Given the description of an element on the screen output the (x, y) to click on. 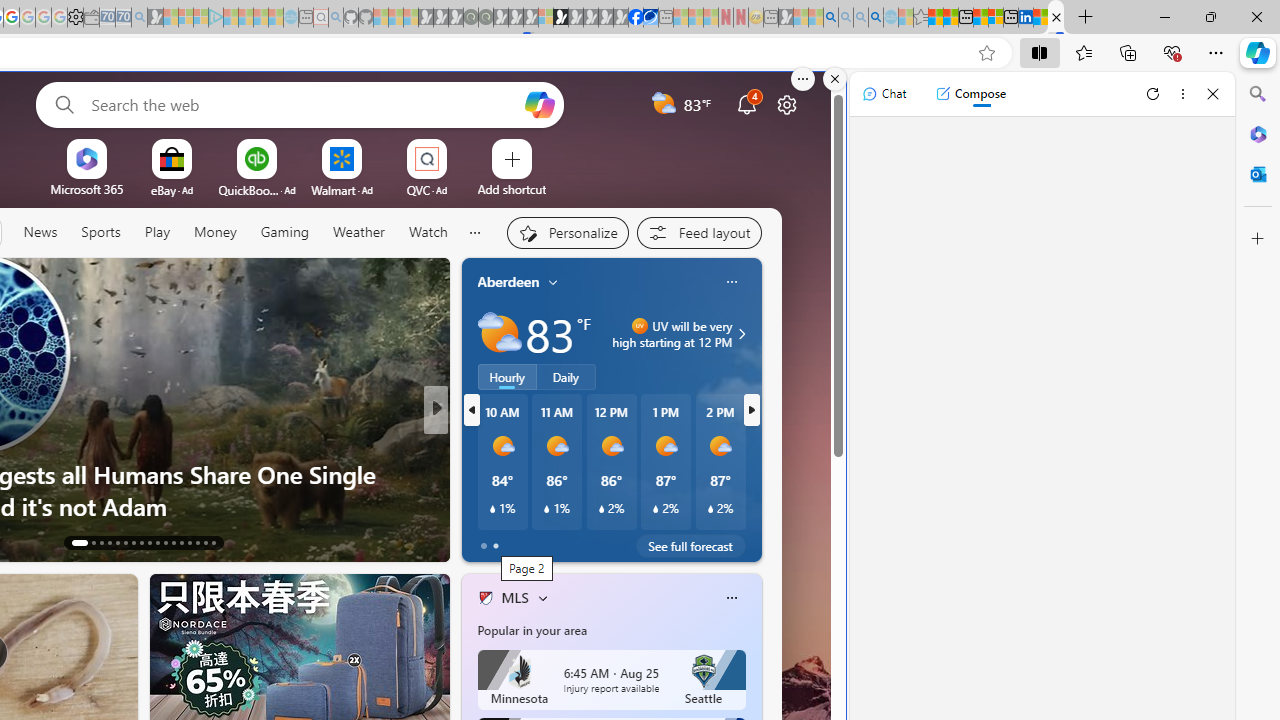
887 Like (490, 541)
Watch (427, 233)
Geography Facts Most People Get Wrong (758, 506)
Which foods have the most plastics? You may be surprised (758, 489)
Money (214, 233)
Page settings (786, 104)
69 Like (487, 541)
